Given the description of an element on the screen output the (x, y) to click on. 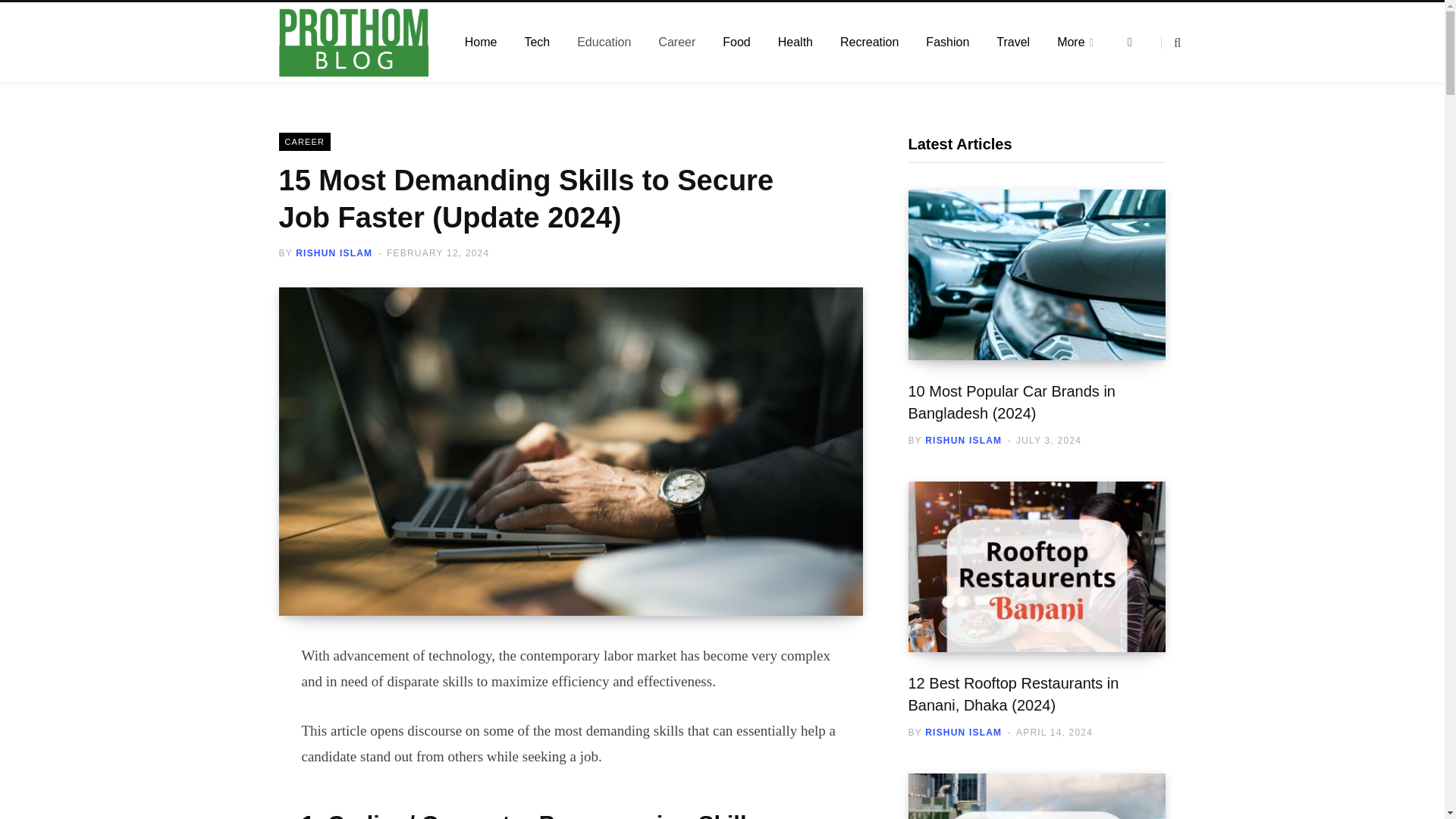
Search (1170, 42)
Recreation (869, 41)
Fashion (947, 41)
Health (795, 41)
Prothom Blog (353, 42)
Food (735, 41)
Travel (1012, 41)
Posts by Rishun Islam (333, 253)
CAREER (304, 141)
Education (604, 41)
Tech (537, 41)
More (1074, 41)
FEBRUARY 12, 2024 (438, 253)
Career (677, 41)
RISHUN ISLAM (962, 439)
